Given the description of an element on the screen output the (x, y) to click on. 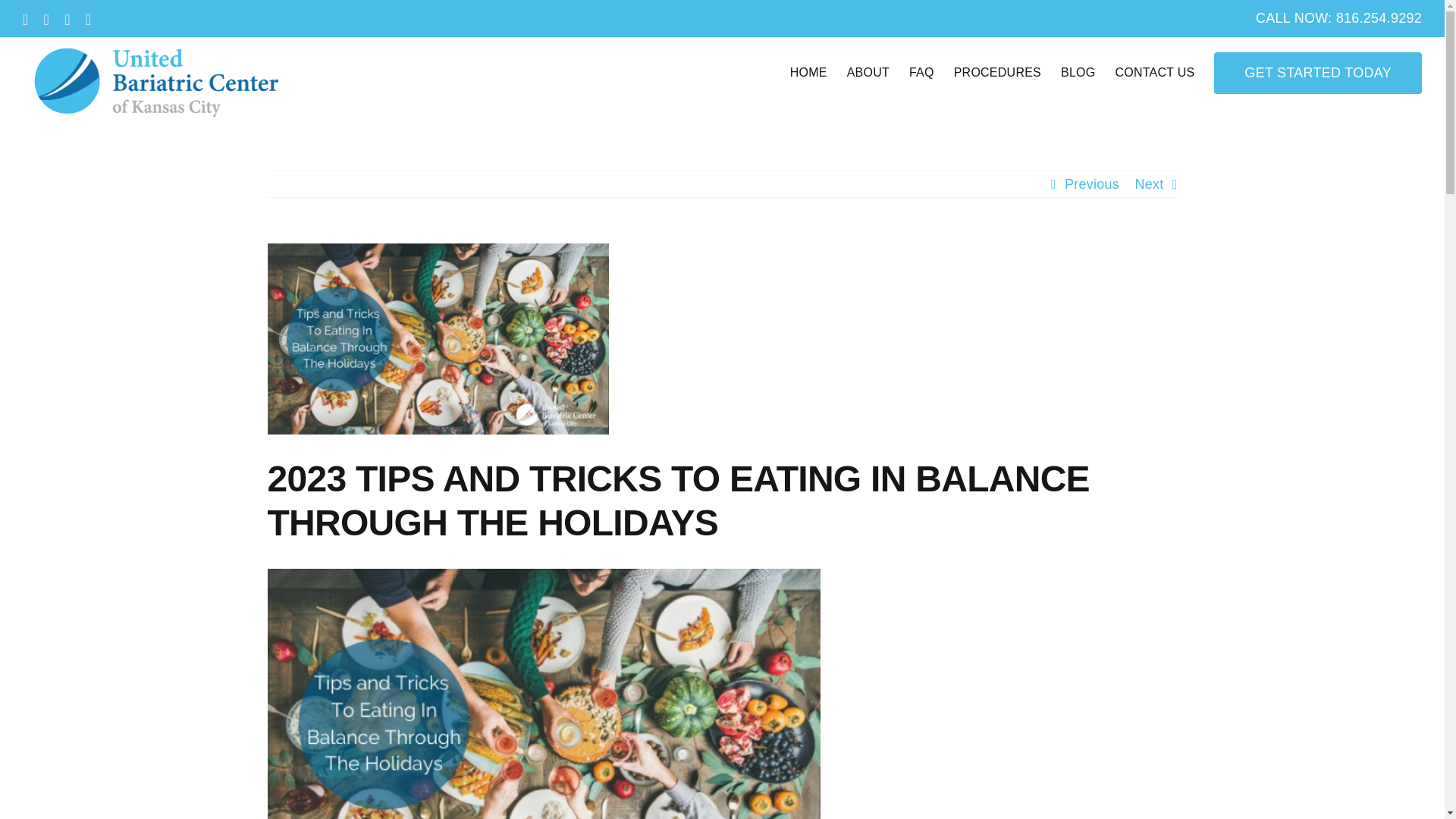
PROCEDURES (997, 72)
GET STARTED TODAY (1318, 72)
CONTACT US (1154, 72)
CALL NOW: 816.254.9292 (1338, 17)
